Given the description of an element on the screen output the (x, y) to click on. 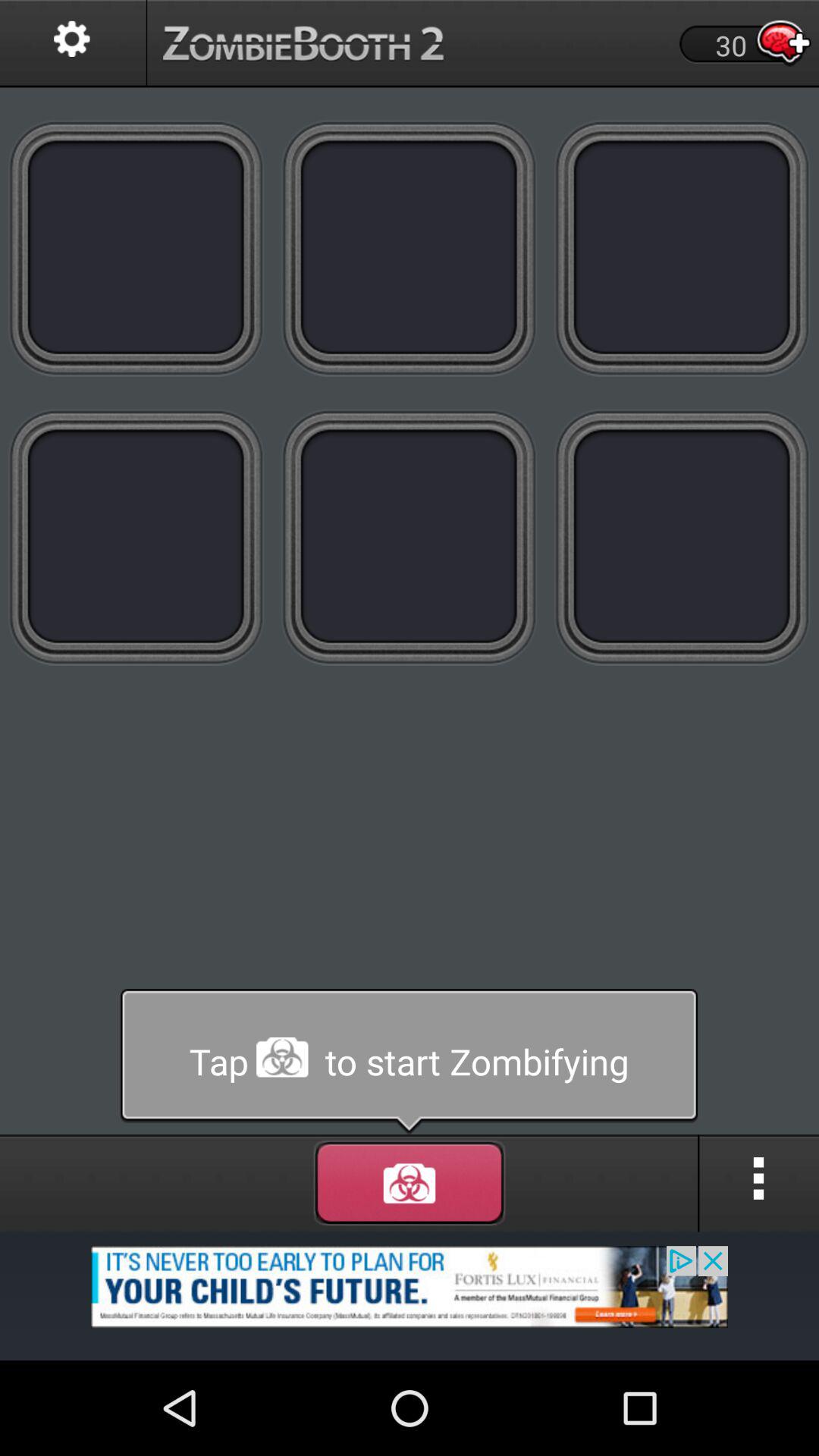
start zombifying click button (409, 247)
